Given the description of an element on the screen output the (x, y) to click on. 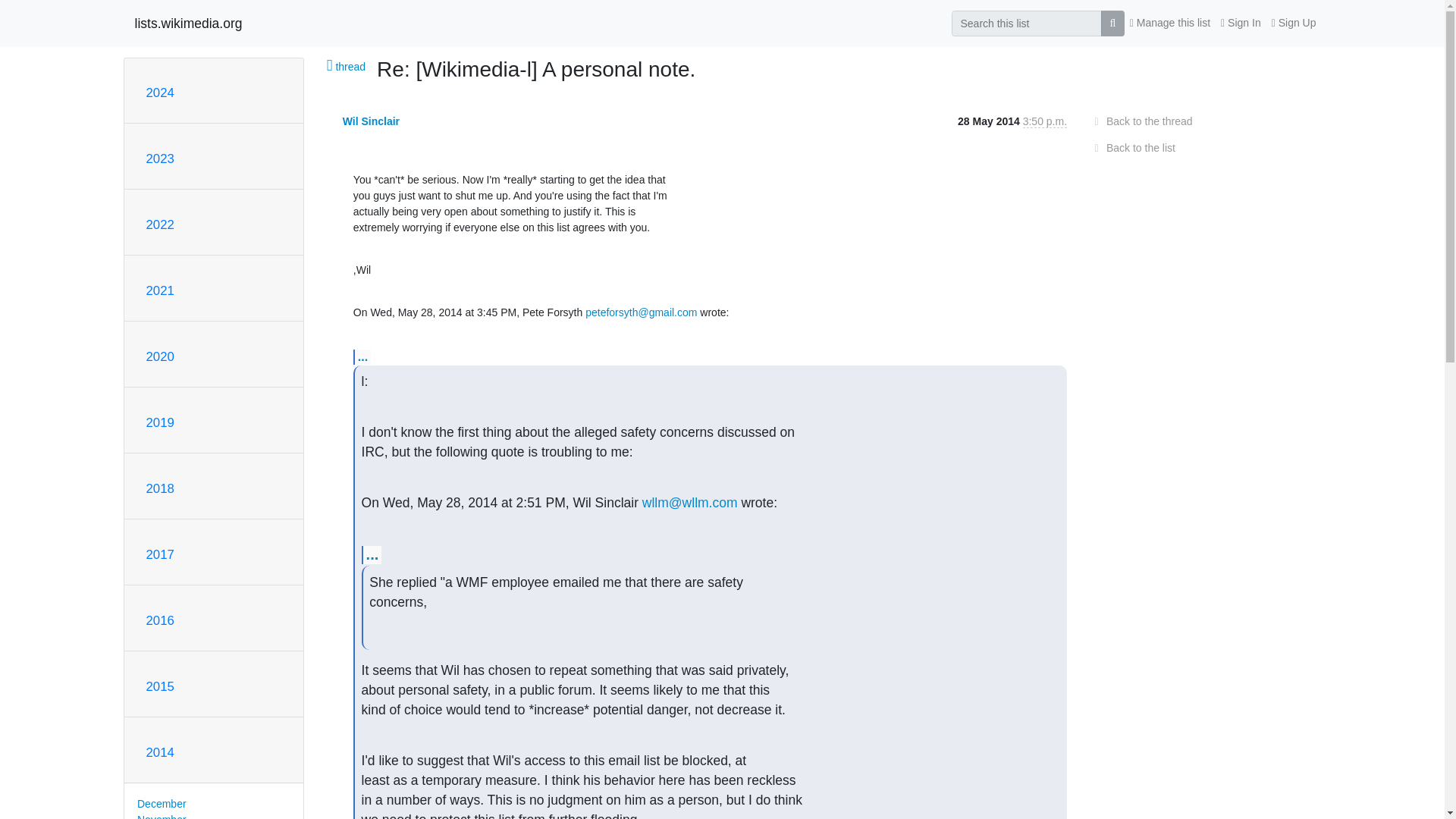
2022 (159, 224)
Sender's time: May 28, 2014, 3:50 p.m. (1045, 121)
lists.wikimedia.org (189, 22)
See the profile for Wil Sinclair (370, 121)
2024 (159, 92)
Sign Up (1294, 22)
2023 (159, 158)
Sign In (1240, 22)
Manage this list (1169, 22)
